Given the description of an element on the screen output the (x, y) to click on. 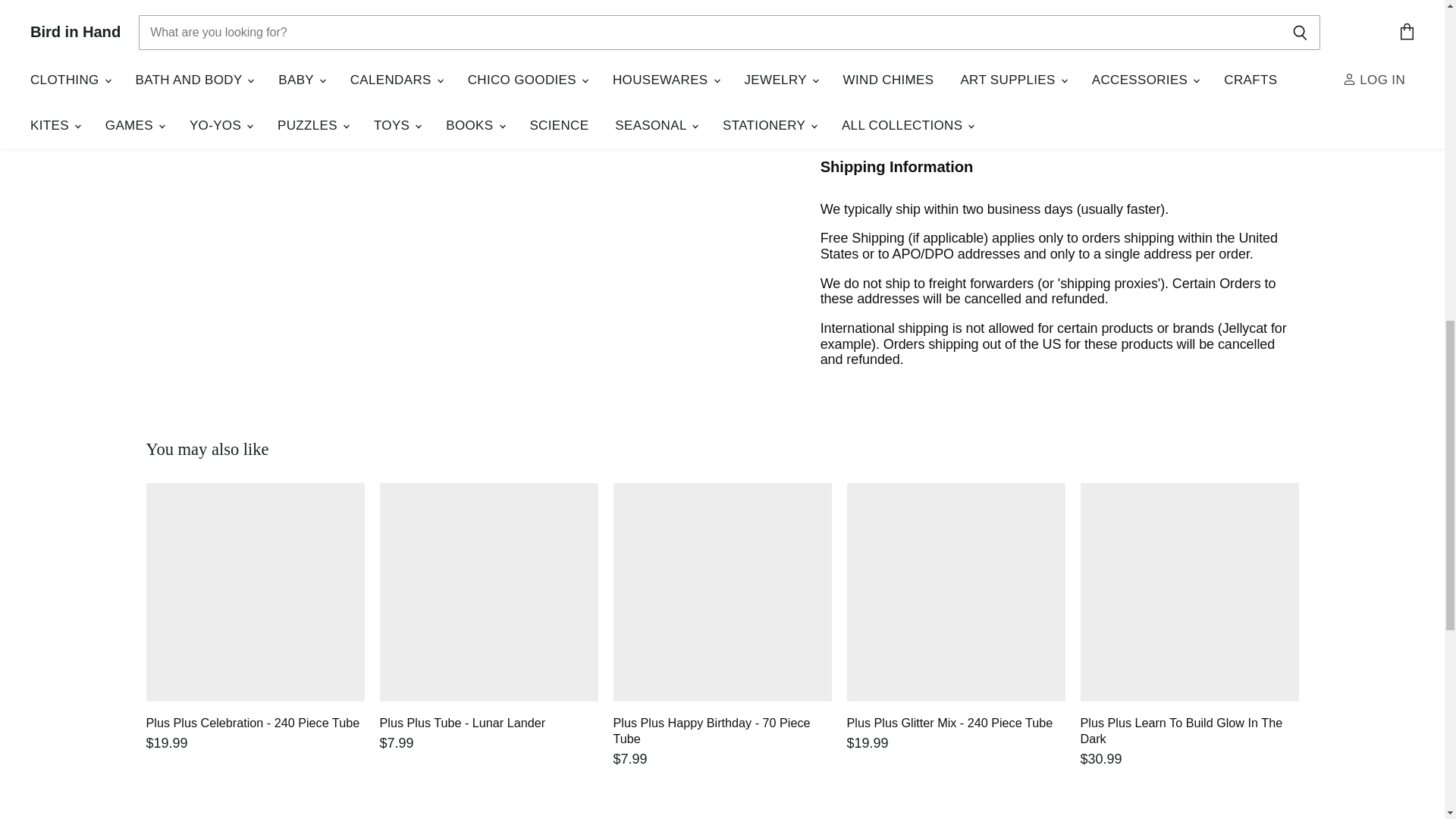
PLUS PLUS USA (901, 120)
